Given the description of an element on the screen output the (x, y) to click on. 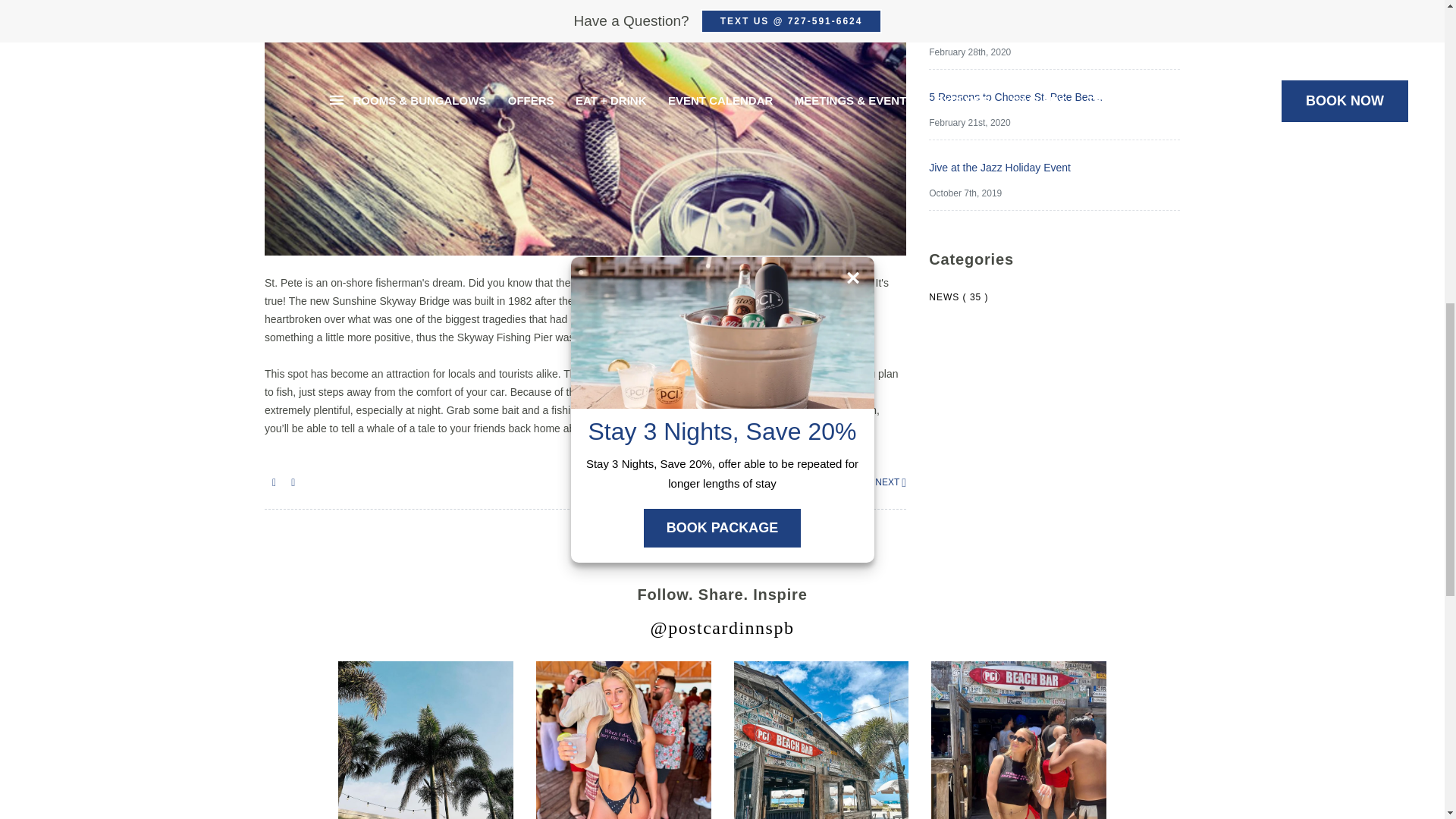
Next blog post (882, 481)
Previous blog post (835, 481)
